Given the description of an element on the screen output the (x, y) to click on. 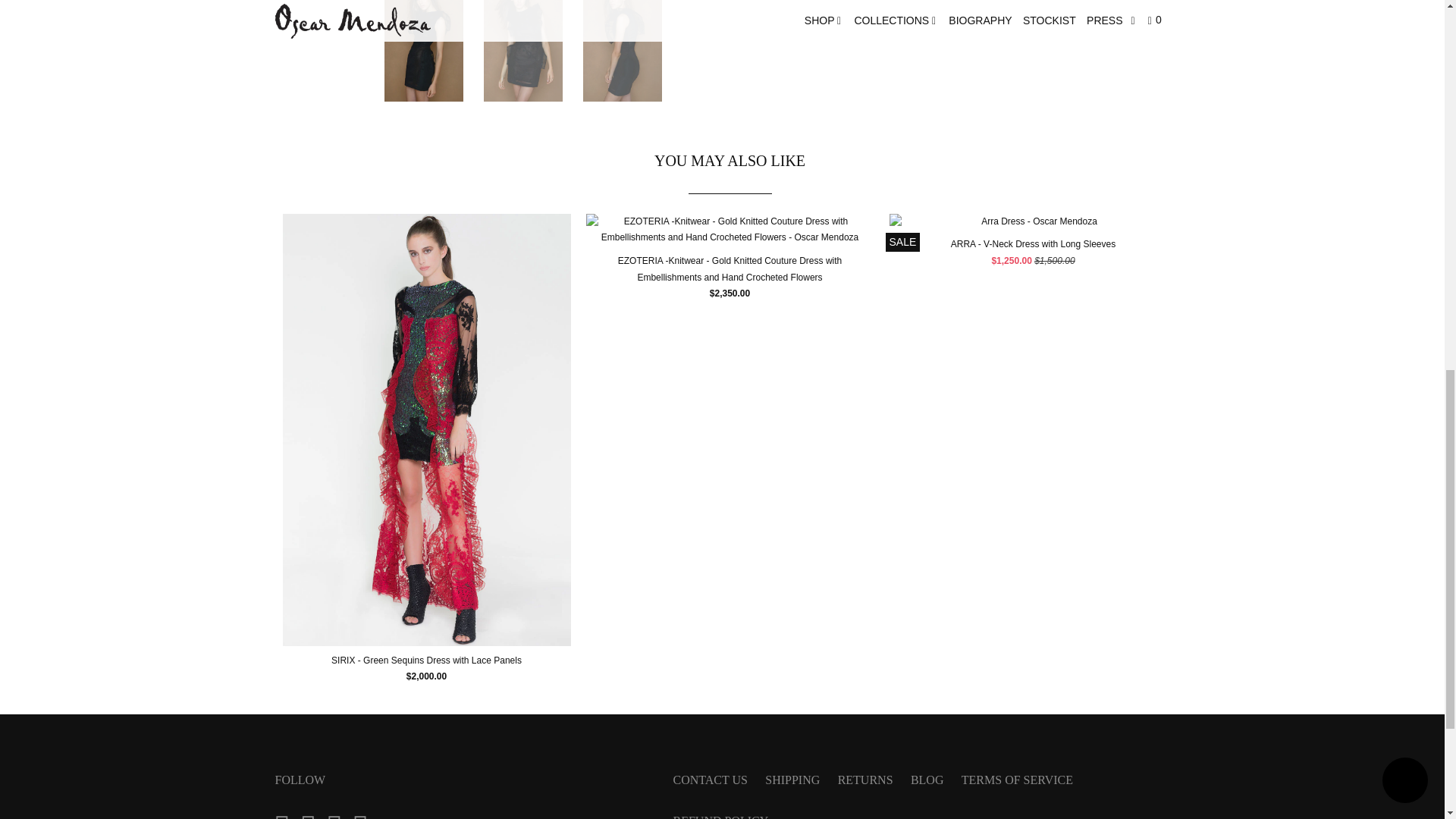
Oscar Mendoza on Pinterest (312, 814)
Oscar Mendoza on Facebook (286, 814)
Oscar Mendoza on Instagram (338, 814)
